Given the description of an element on the screen output the (x, y) to click on. 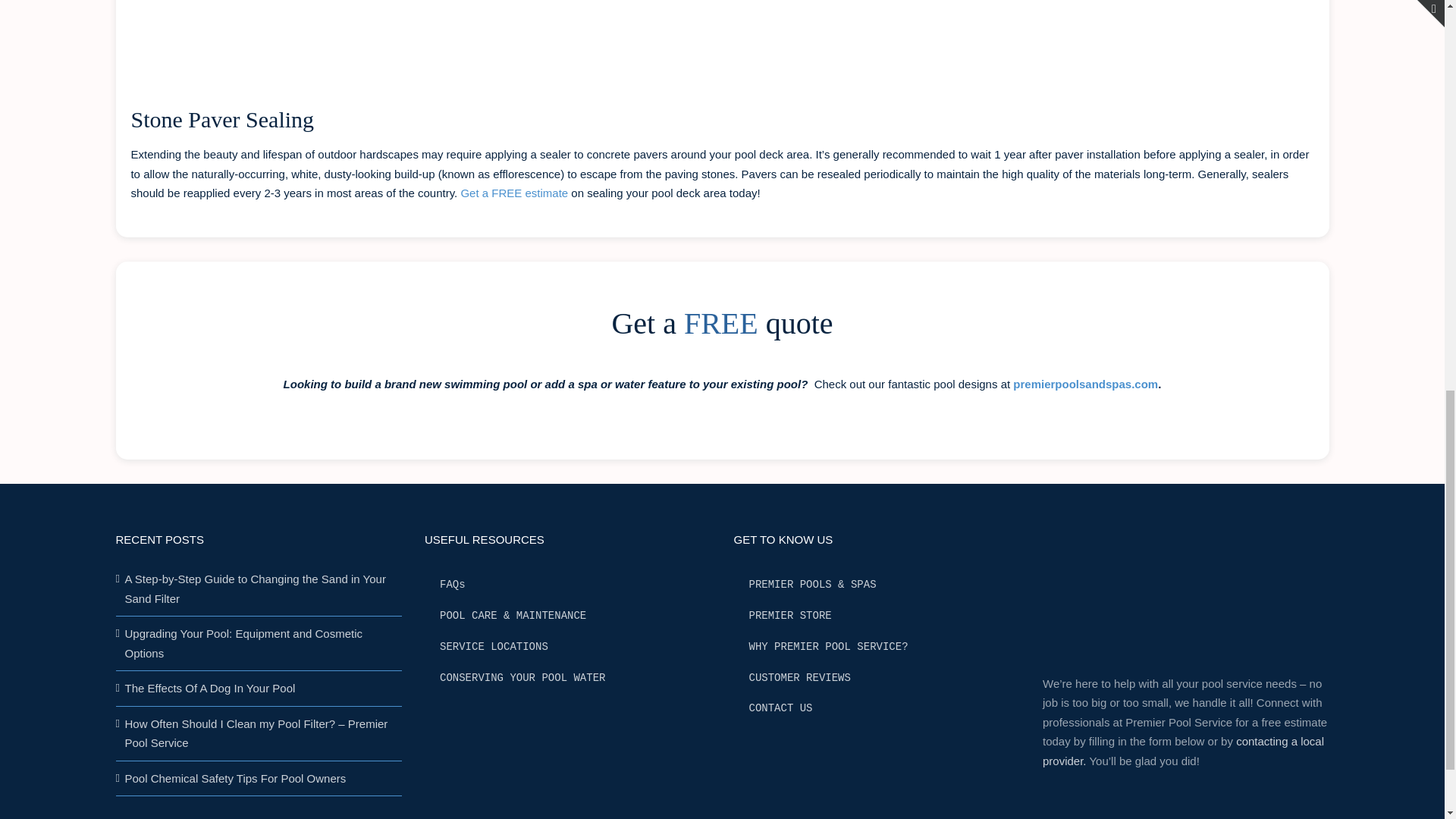
wet look deck sealing (460, 34)
